Given the description of an element on the screen output the (x, y) to click on. 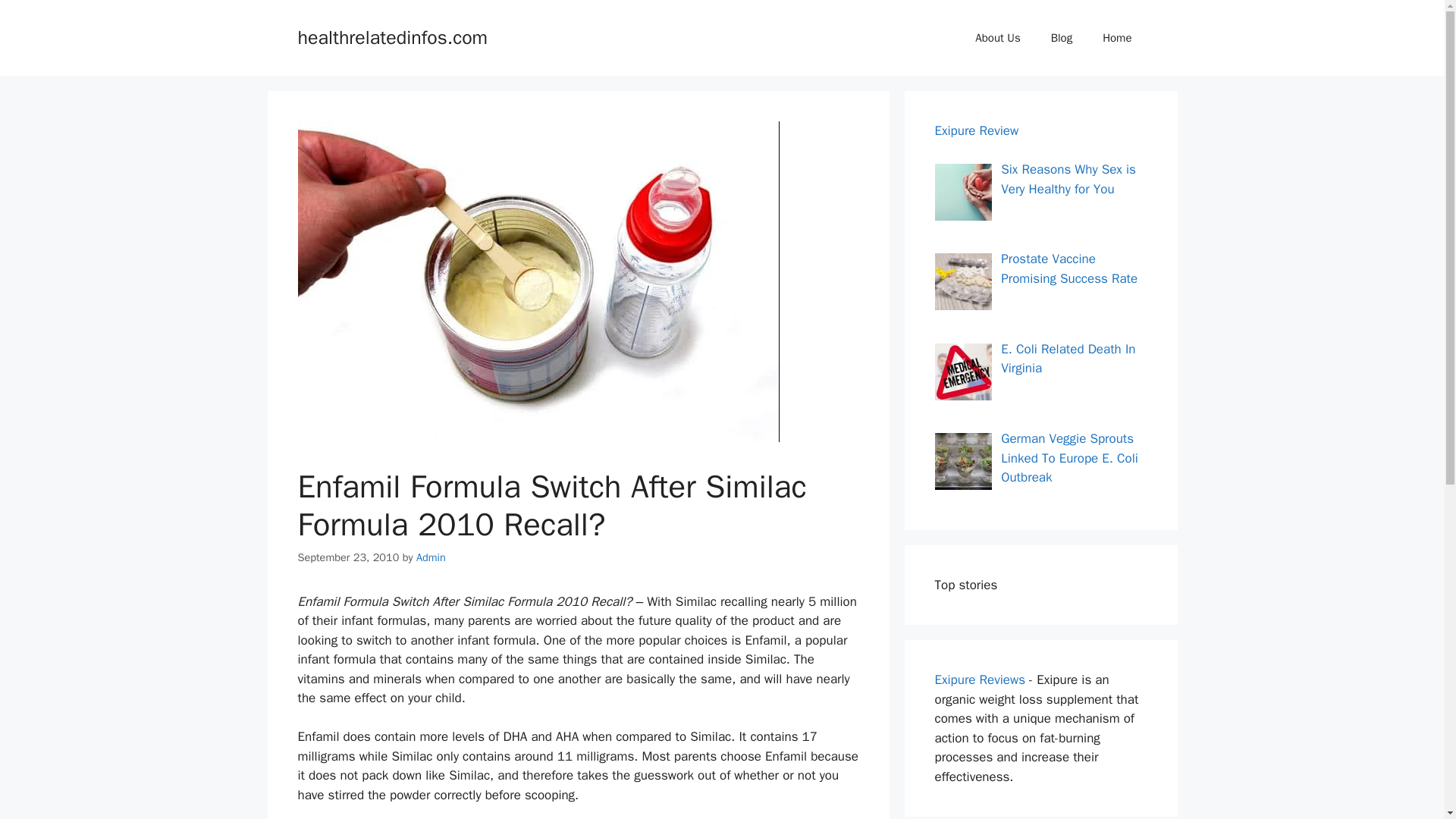
View all posts by Admin (430, 557)
Exipure Reviews (979, 679)
Admin (430, 557)
healthrelatedinfos.com (392, 37)
German Veggie Sprouts Linked To Europe E. Coli Outbreak (1069, 457)
Exipure Review (975, 130)
Home (1117, 37)
E. Coli Related Death In Virginia (1068, 358)
About Us (997, 37)
Blog (1061, 37)
Six Reasons Why Sex is Very Healthy for You (1068, 179)
Prostate Vaccine Promising Success Rate (1069, 268)
